Given the description of an element on the screen output the (x, y) to click on. 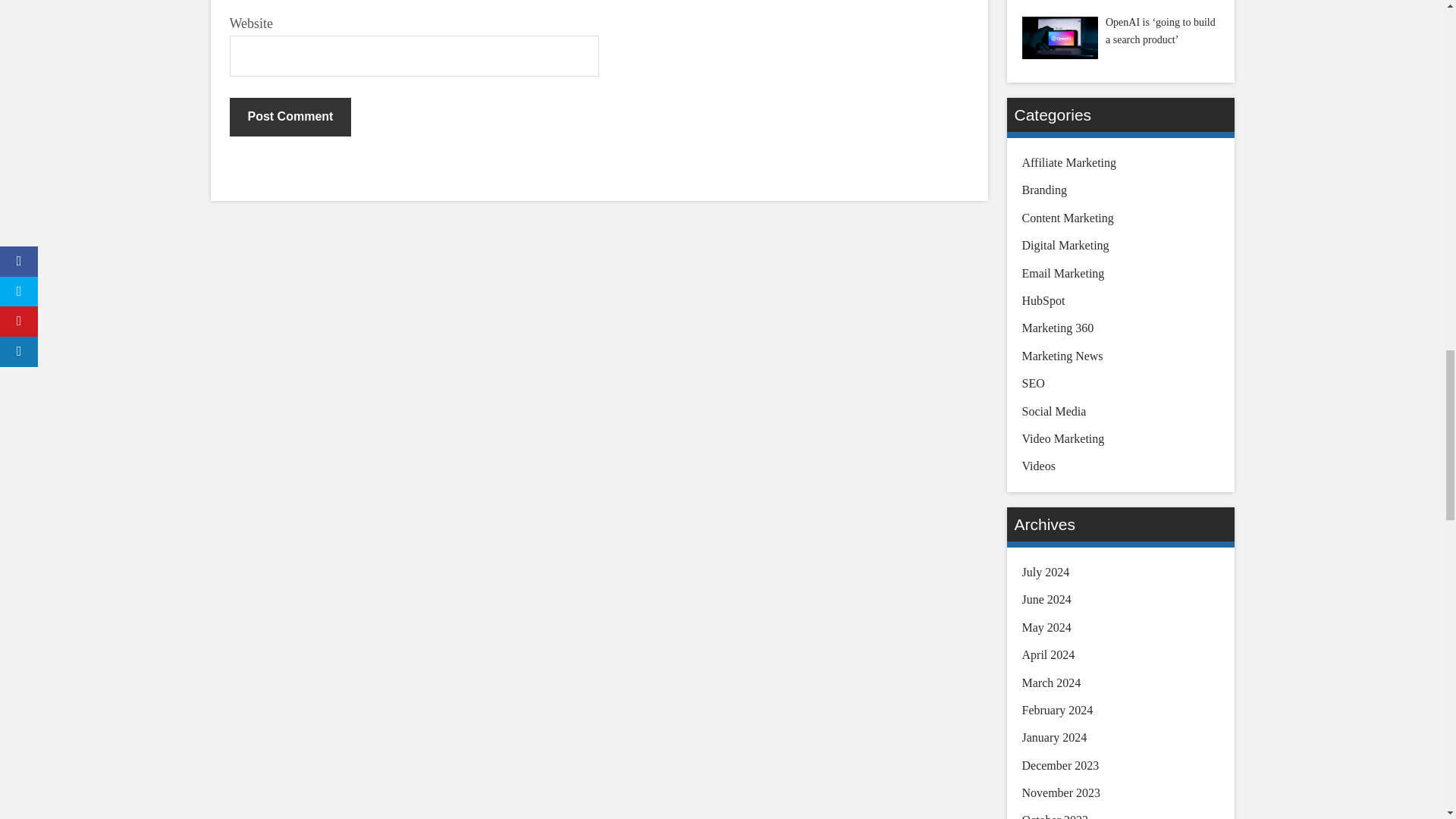
Post Comment (289, 116)
